Given the description of an element on the screen output the (x, y) to click on. 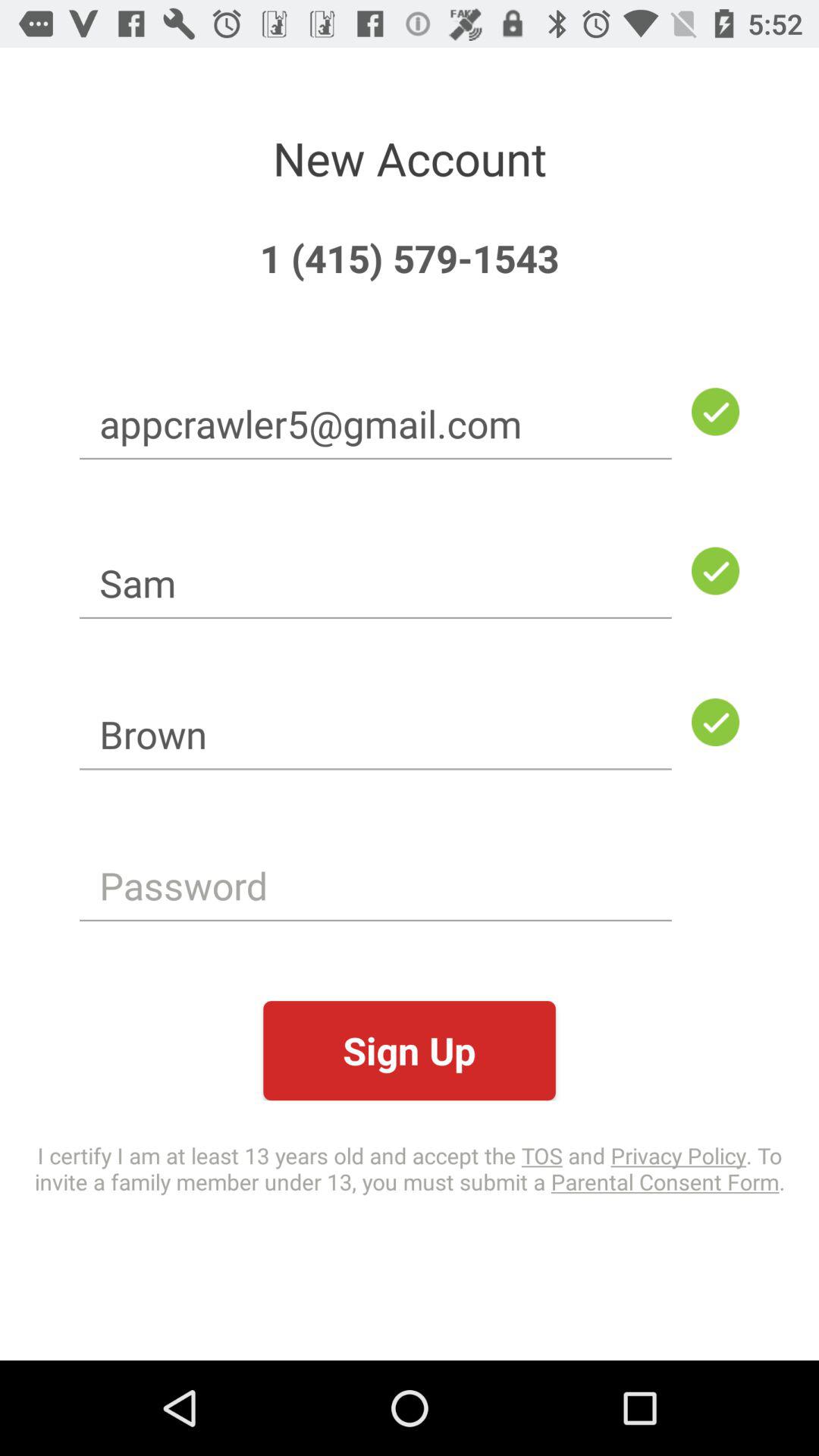
turn on item above the sign up item (375, 885)
